Given the description of an element on the screen output the (x, y) to click on. 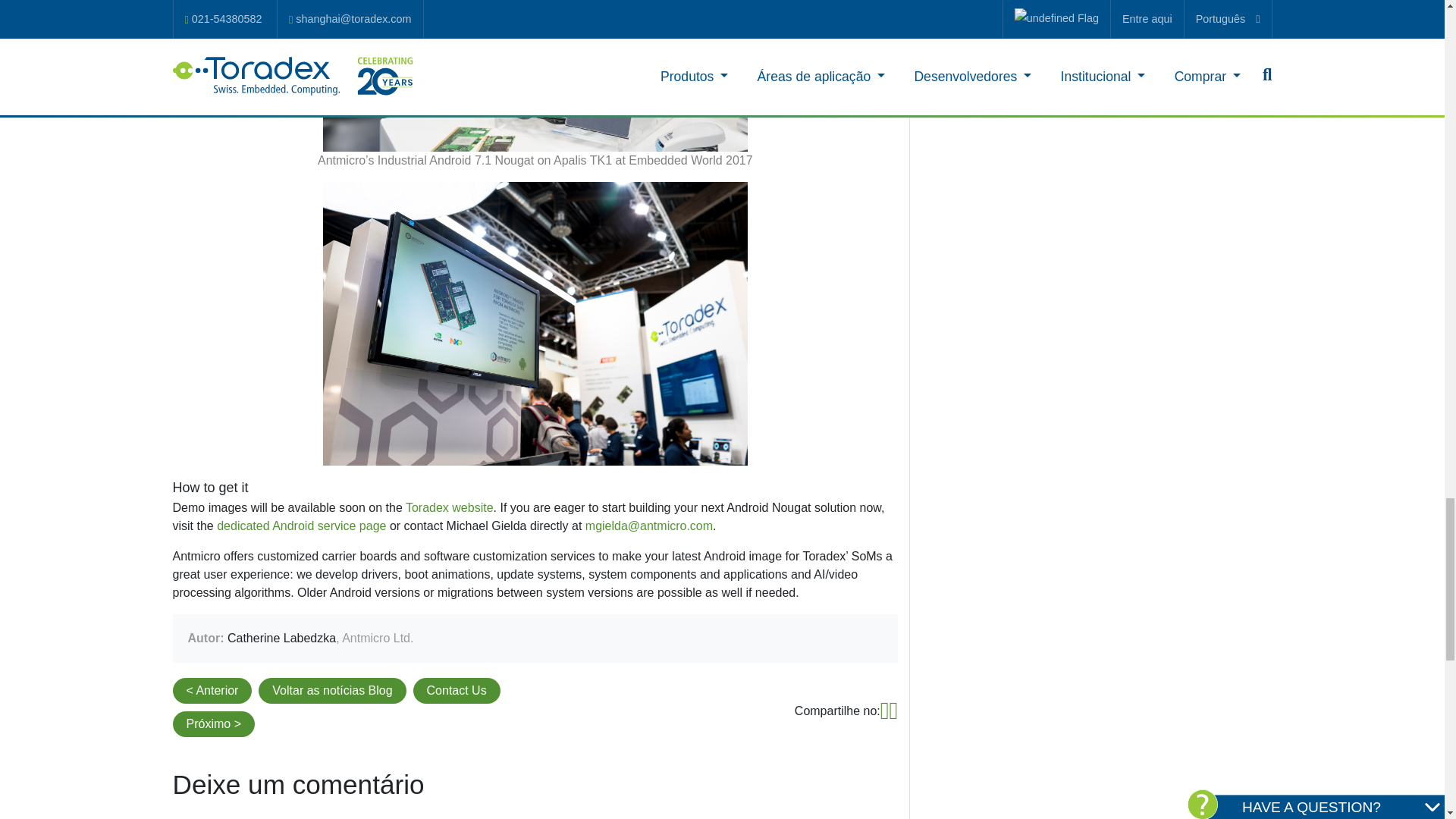
Antmicro Pod (535, 323)
